Given the description of an element on the screen output the (x, y) to click on. 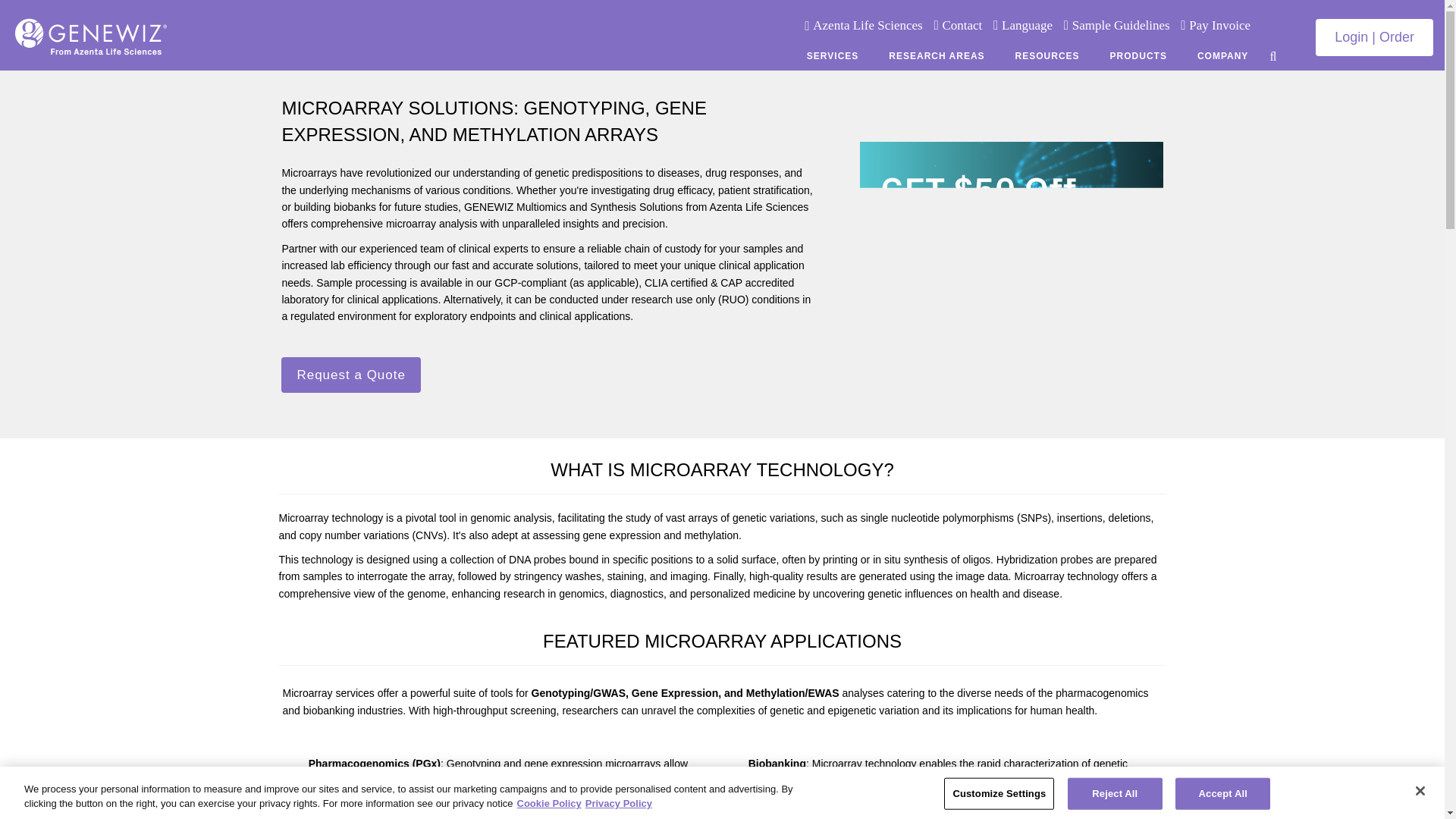
Contact (961, 25)
Sample Guidelines (1120, 25)
Azenta Life Sciences (866, 25)
Pay Invoice (1219, 25)
Language (1026, 25)
SERVICES (832, 55)
